Given the description of an element on the screen output the (x, y) to click on. 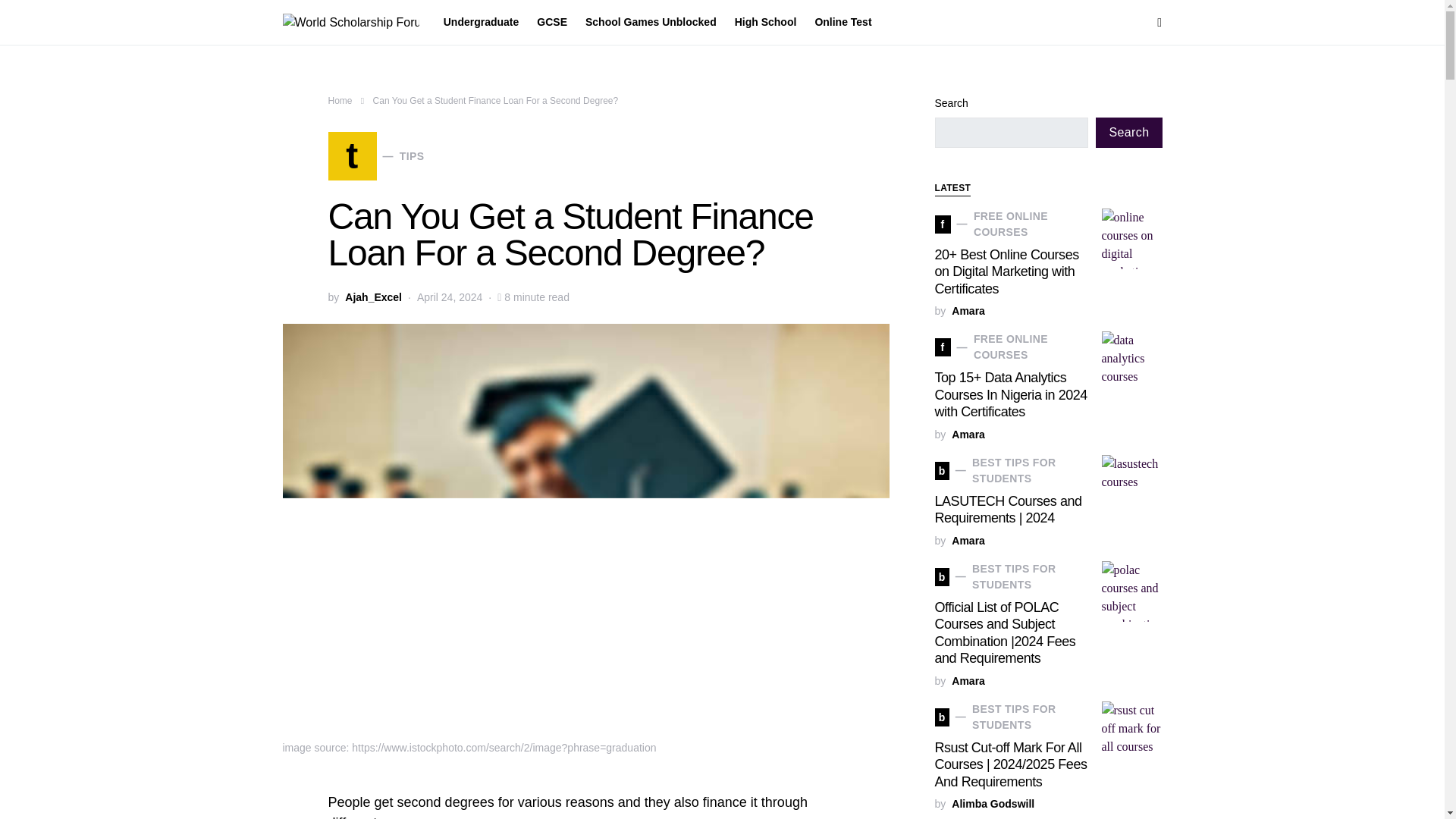
View all posts by Alimba Godswill (992, 804)
View all posts by Amara (968, 540)
View all posts by Amara (968, 681)
GCSE (551, 22)
Online Test (837, 22)
School Games Unblocked (650, 22)
View all posts by Amara (375, 155)
Undergraduate (968, 311)
High School (486, 22)
View all posts by Amara (765, 22)
Home (968, 434)
